Given the description of an element on the screen output the (x, y) to click on. 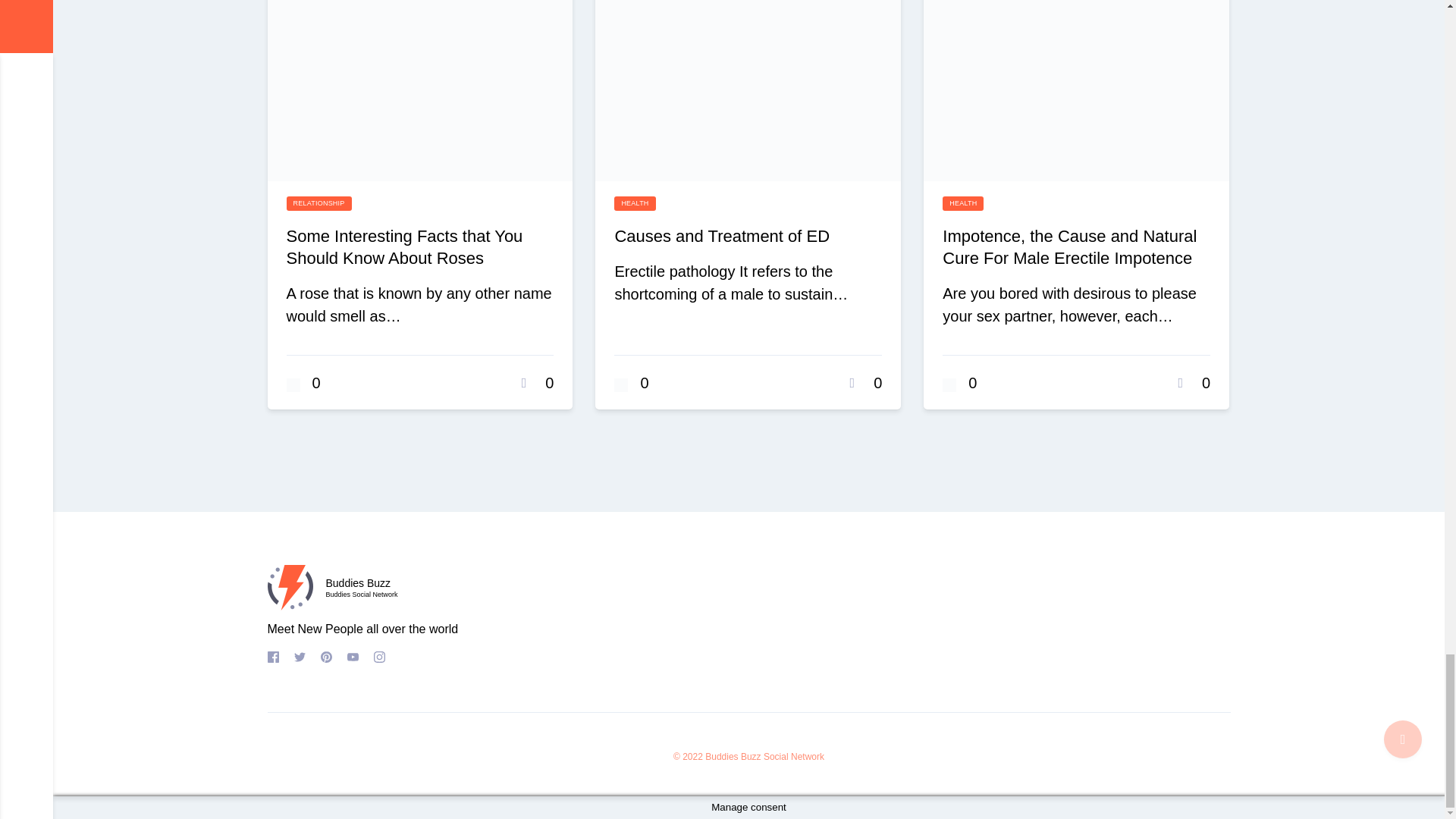
All posts from Health (963, 203)
All posts from Health (634, 203)
All posts from Relationship (319, 203)
